Given the description of an element on the screen output the (x, y) to click on. 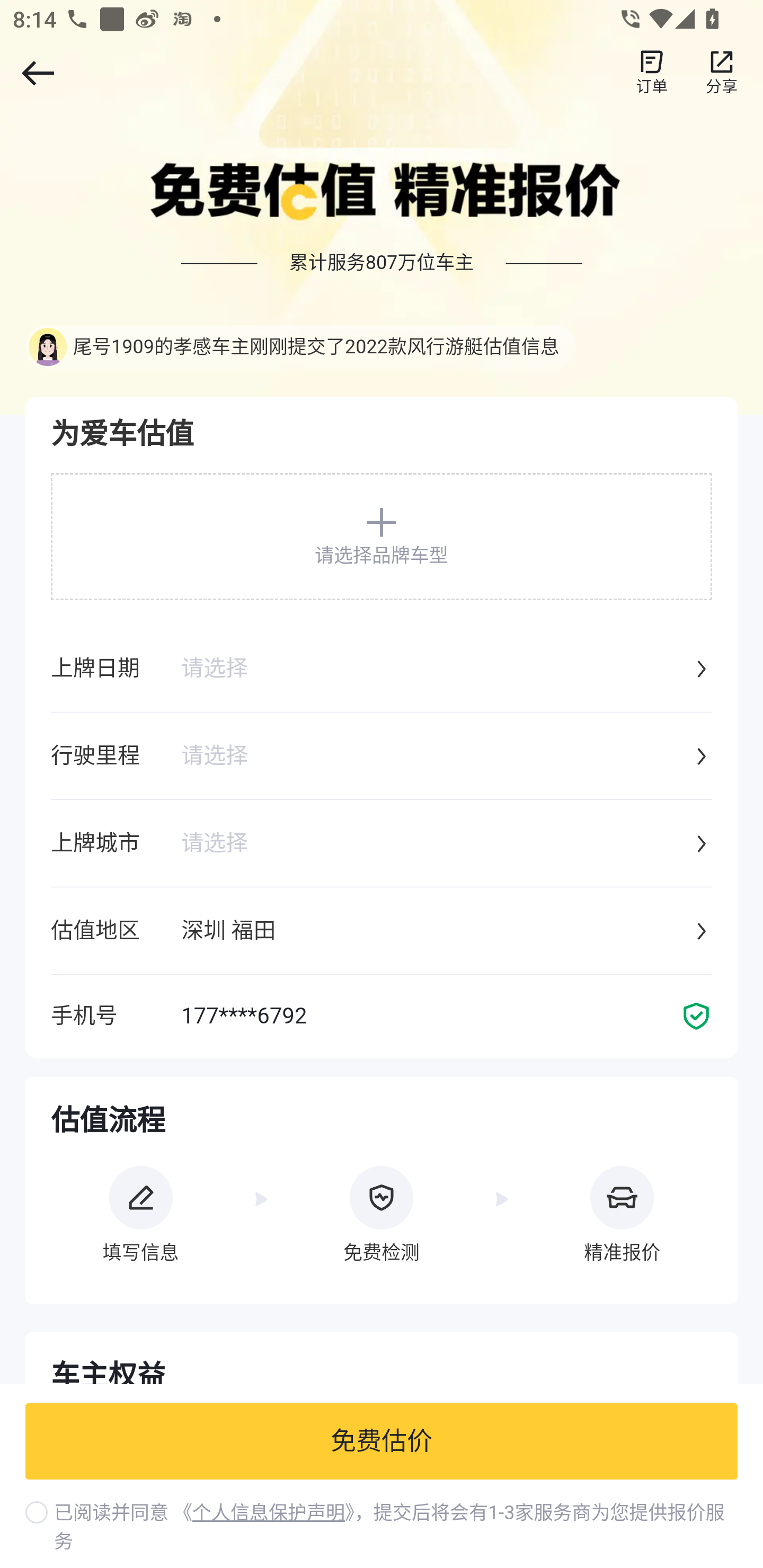
订单 (651, 72)
分享 (721, 72)
请选择品牌车型 (381, 535)
请选择 (435, 669)
请选择 (435, 757)
请选择 (435, 844)
深圳 福田 (435, 932)
177****6792 (430, 1016)
免费估价 (381, 1441)
个人信息保护声明 (267, 1513)
